Given the description of an element on the screen output the (x, y) to click on. 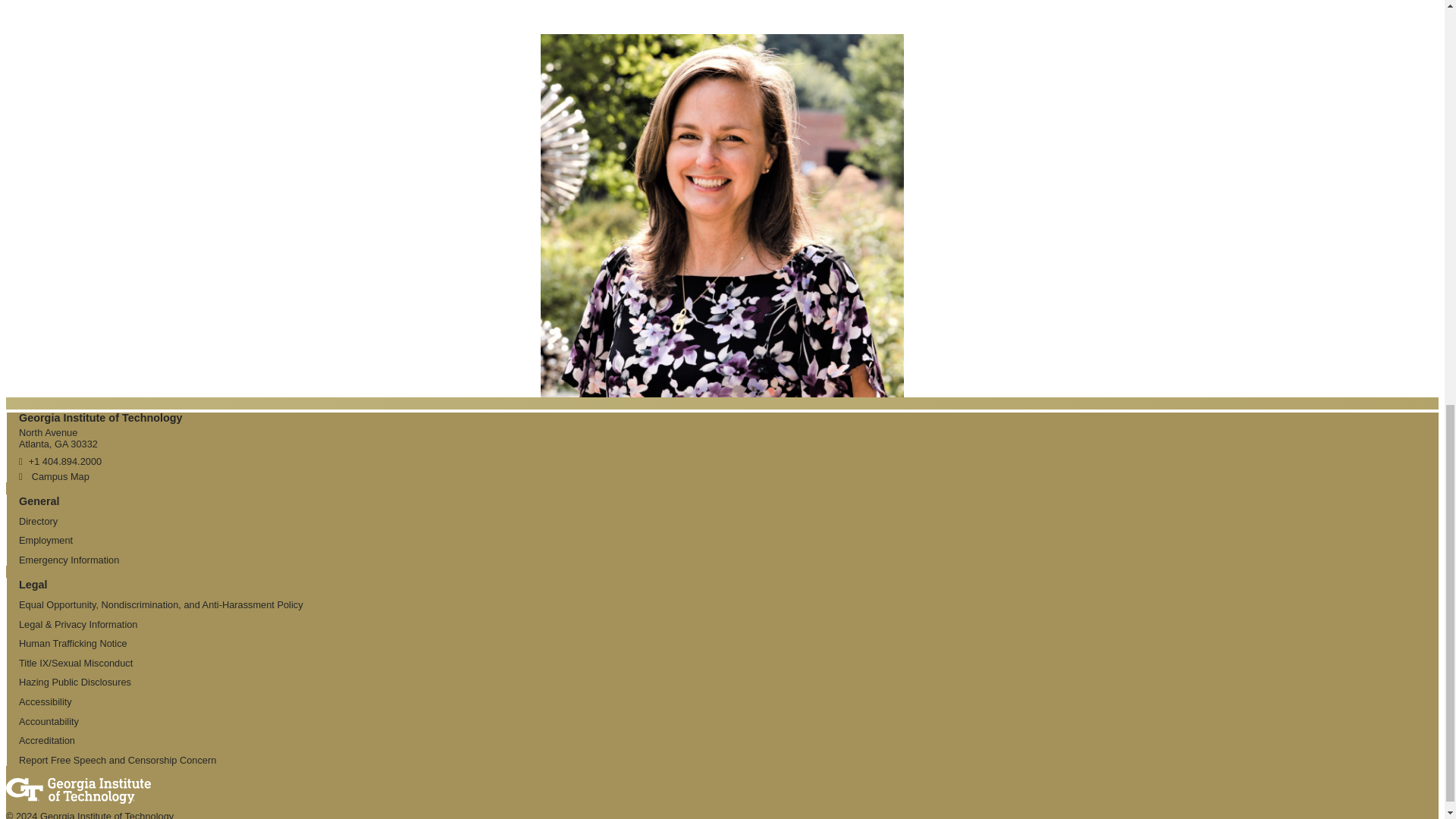
Hazing Public Disclosures (74, 681)
Georgia Institute of Technology Directory (38, 521)
Accreditation (46, 740)
Georgia Human Trafficking Resources (73, 643)
Campus Map (53, 476)
Report Free Speech and Censorship Concern (116, 759)
Accessibility (44, 701)
Directory (38, 521)
General Main Menu Category (38, 500)
Georgia Institute of Technology Accessibility Resources (44, 701)
Human Trafficking Notice (73, 643)
Georgia Tech Hazing Conduct History (74, 681)
